Given the description of an element on the screen output the (x, y) to click on. 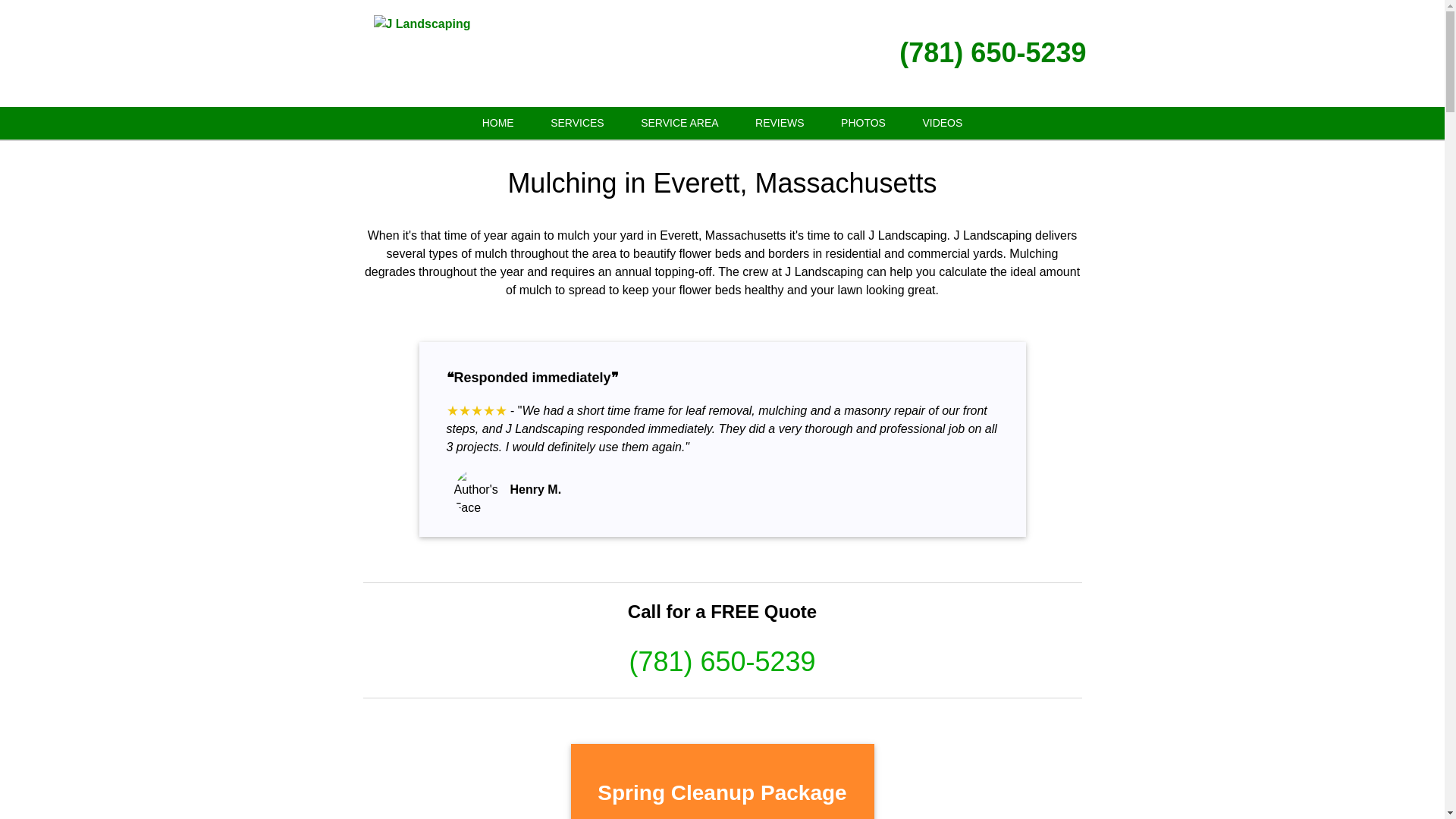
PHOTOS (863, 123)
REVIEWS (779, 123)
HOME (498, 123)
SERVICES (577, 123)
VIDEOS (941, 123)
SERVICE AREA (679, 123)
